Given the description of an element on the screen output the (x, y) to click on. 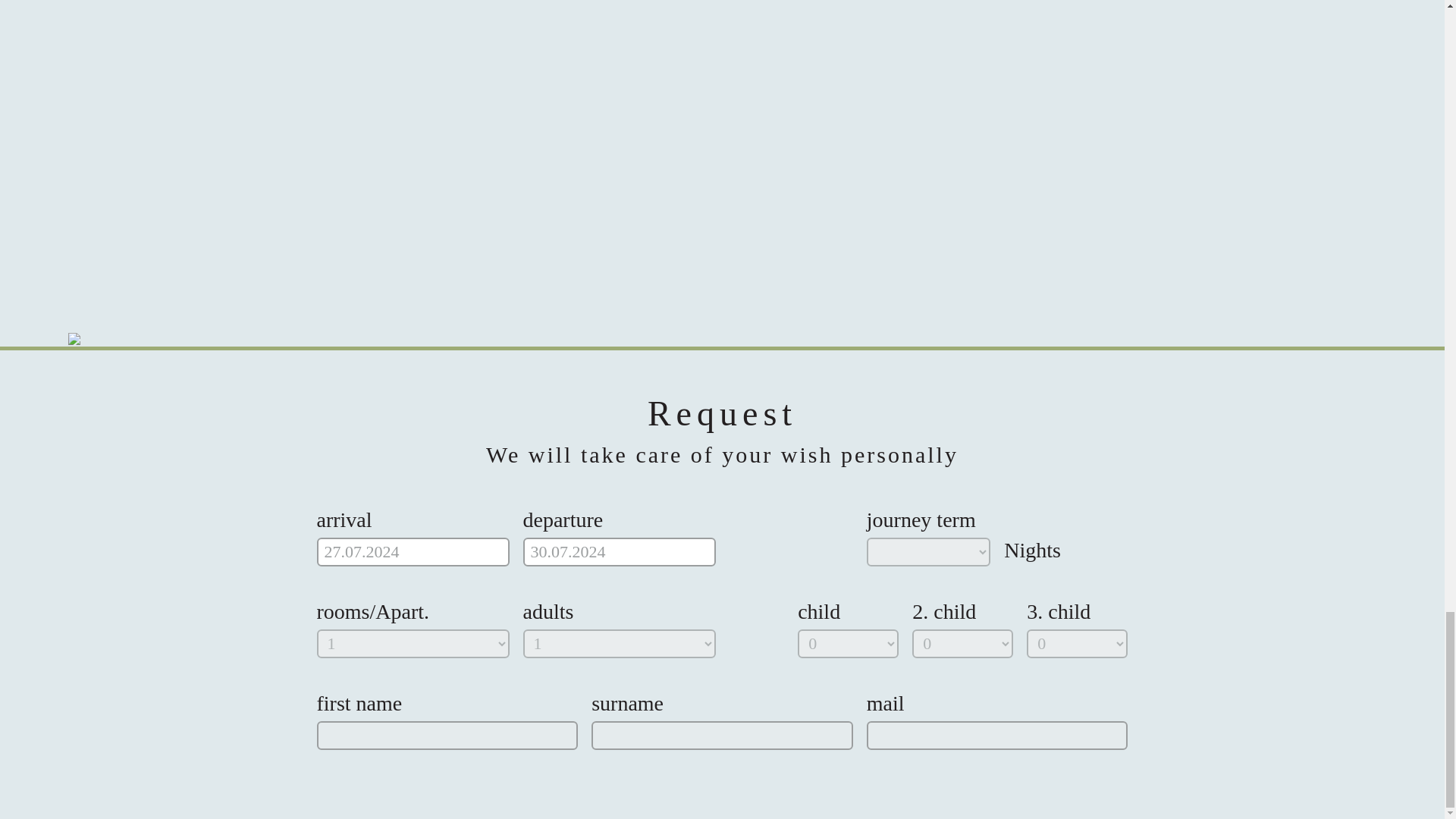
30.07.2024 (619, 551)
27.07.2024 (413, 551)
